Given the description of an element on the screen output the (x, y) to click on. 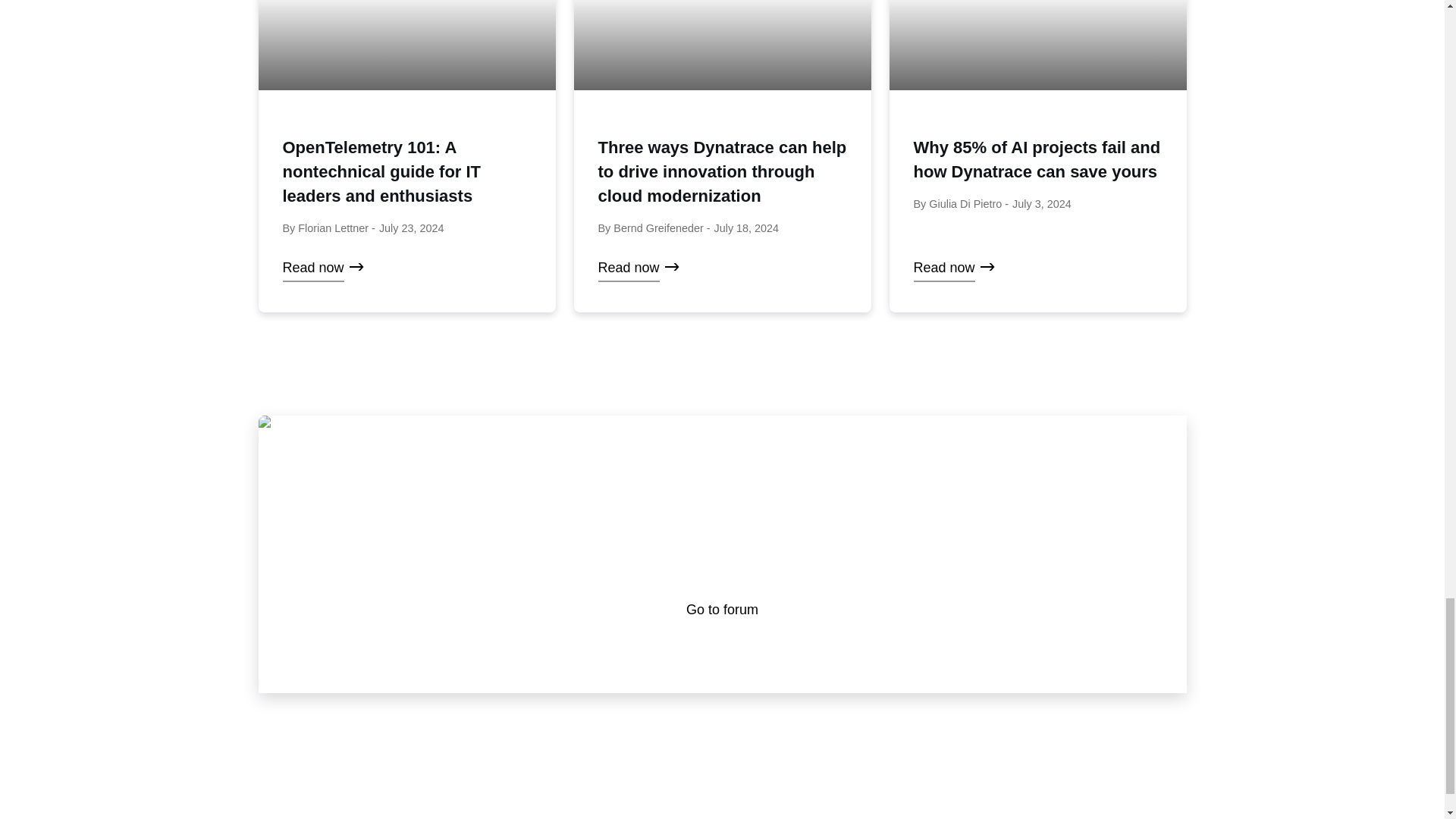
Go to forum (722, 609)
